Given the description of an element on the screen output the (x, y) to click on. 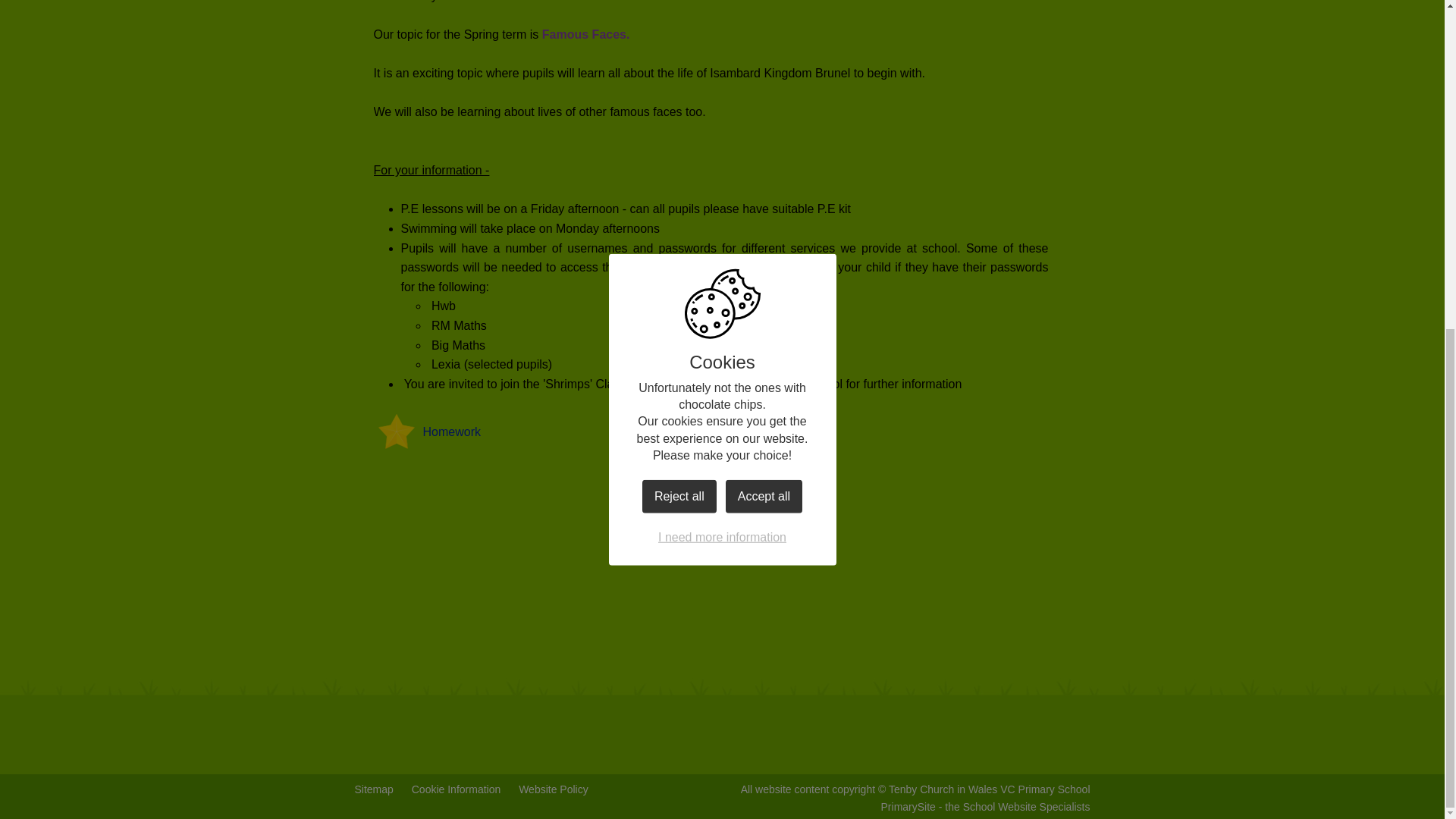
Homework (426, 431)
